Given the description of an element on the screen output the (x, y) to click on. 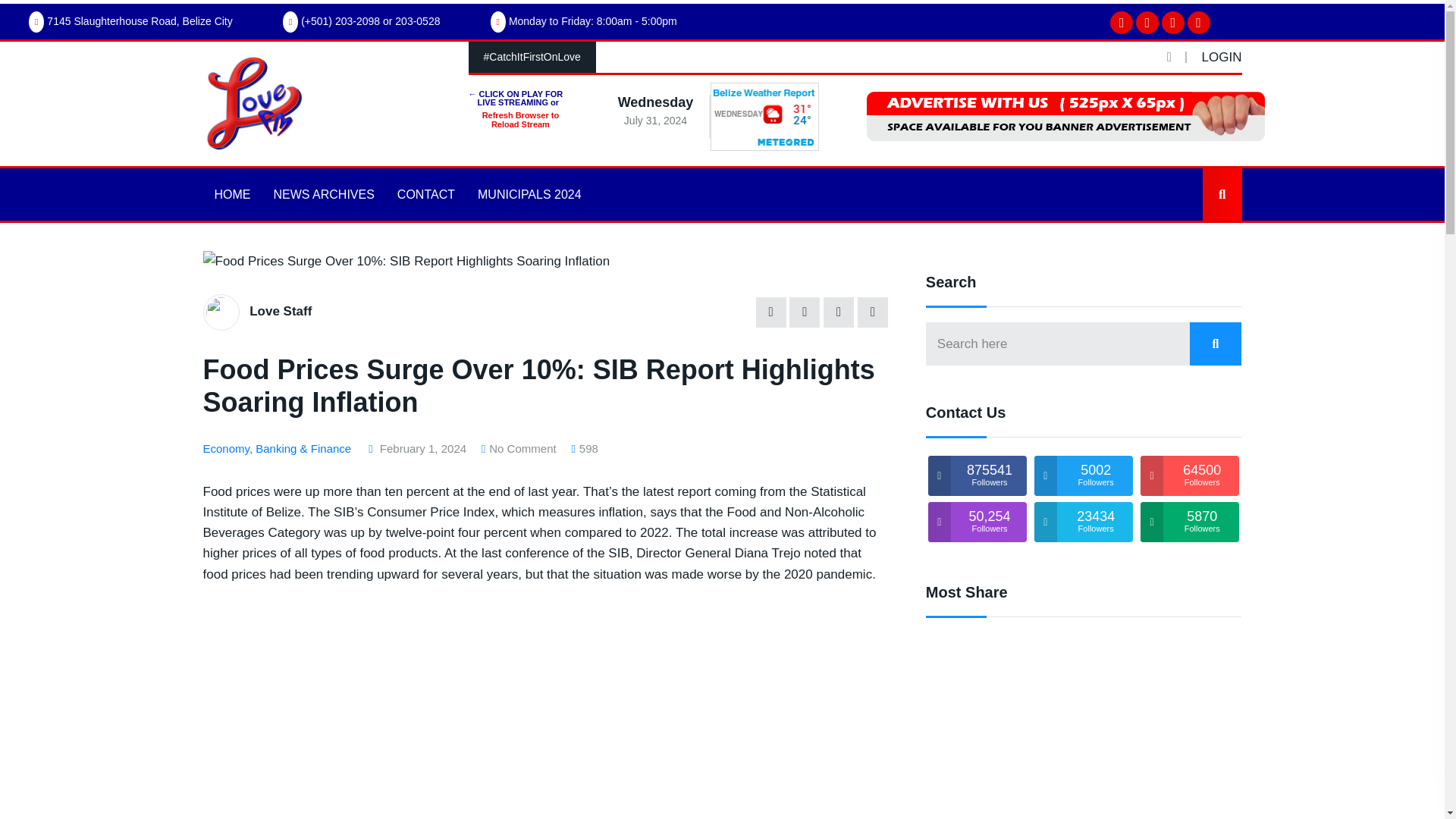
CONTACT (425, 194)
Love Staff (279, 310)
Home (227, 207)
NEWS ARCHIVES (323, 194)
HOME (232, 194)
LOGIN (1221, 56)
MUNICIPALS 2024 (528, 194)
